Given the description of an element on the screen output the (x, y) to click on. 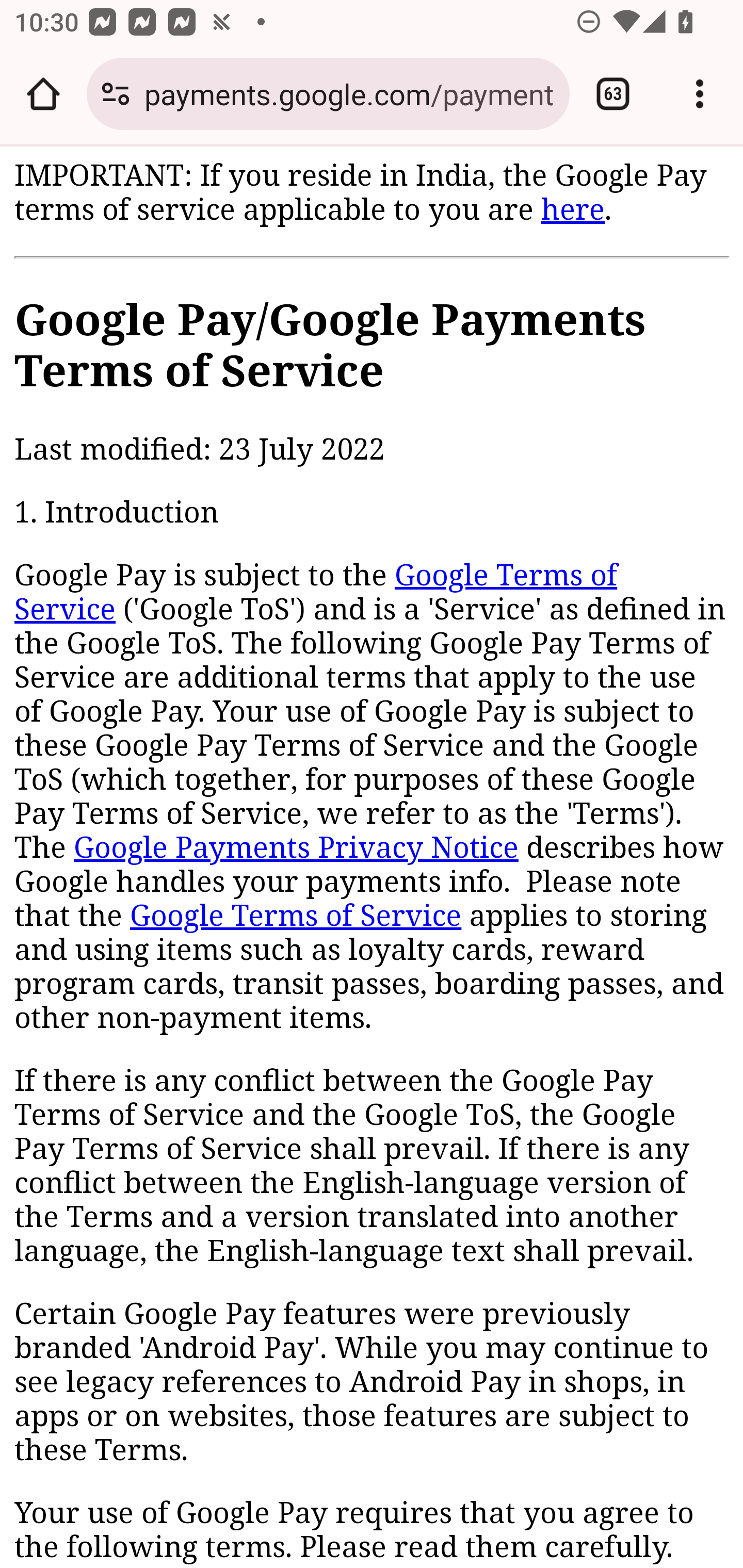
Open the home page (43, 93)
Connection is secure (115, 93)
Switch or close tabs (612, 93)
Customize and control Google Chrome (699, 93)
here (571, 209)
Google Terms of Service (316, 593)
Google Payments Privacy Notice (296, 849)
Google Terms of Service (296, 916)
